Given the description of an element on the screen output the (x, y) to click on. 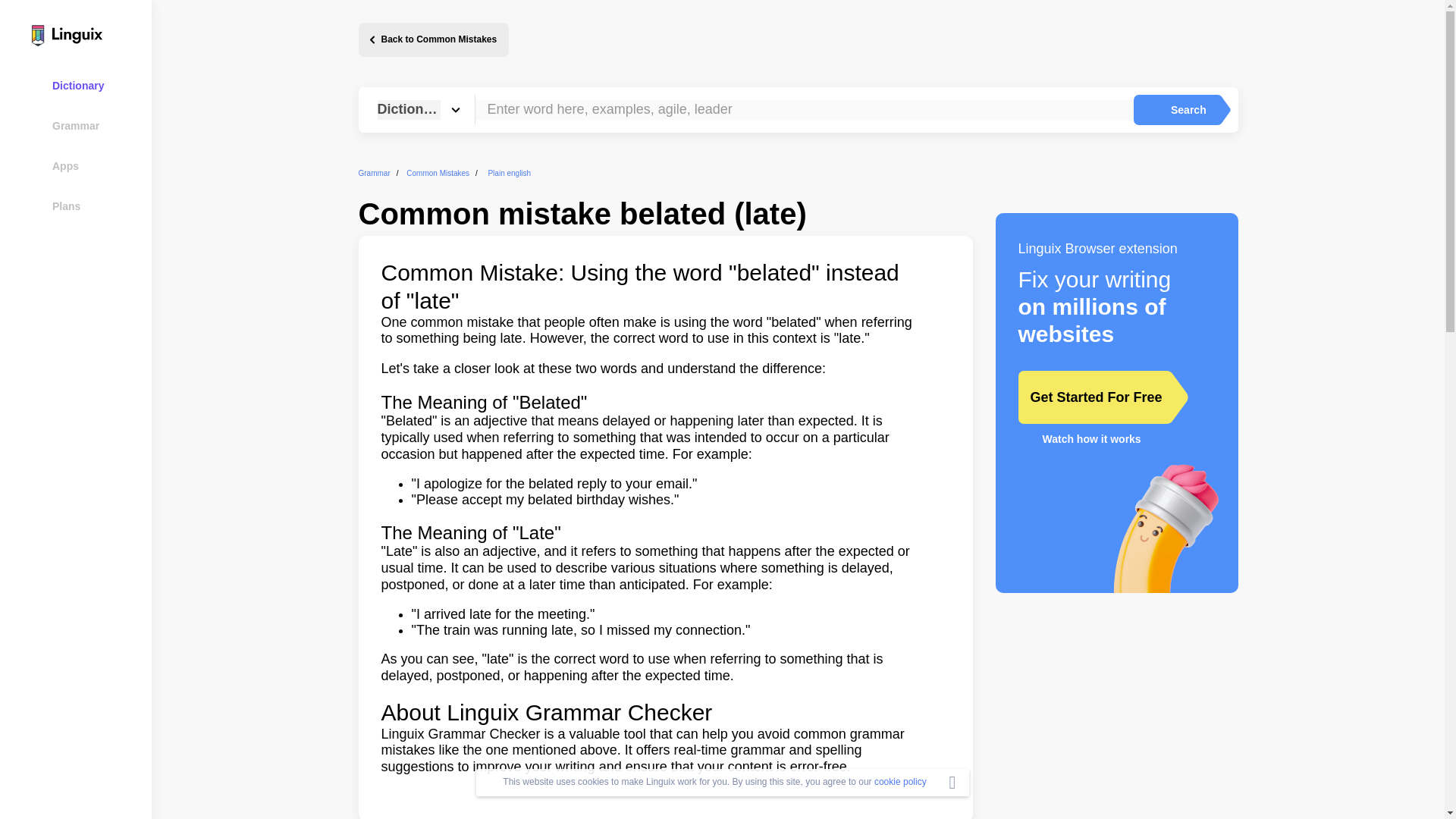
Dictionary (84, 85)
Get Started For Free (1091, 397)
Back to Common Mistakes (433, 39)
Plain english (509, 172)
Plans (84, 206)
Search (1175, 110)
Grammar (84, 126)
Common Mistakes (437, 172)
cookie policy (900, 781)
Apps (84, 165)
